Given the description of an element on the screen output the (x, y) to click on. 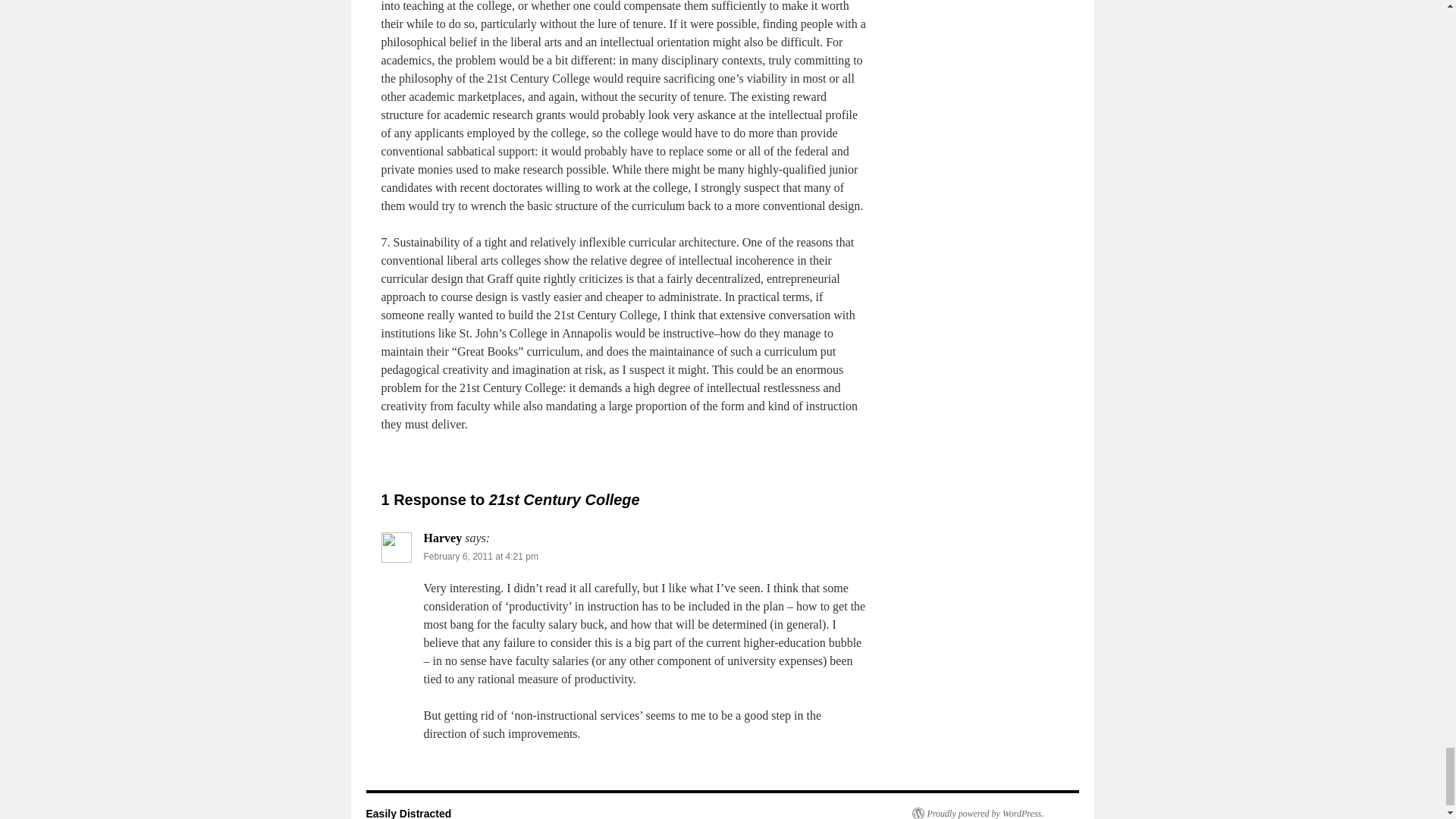
February 6, 2011 at 4:21 pm (480, 556)
